Given the description of an element on the screen output the (x, y) to click on. 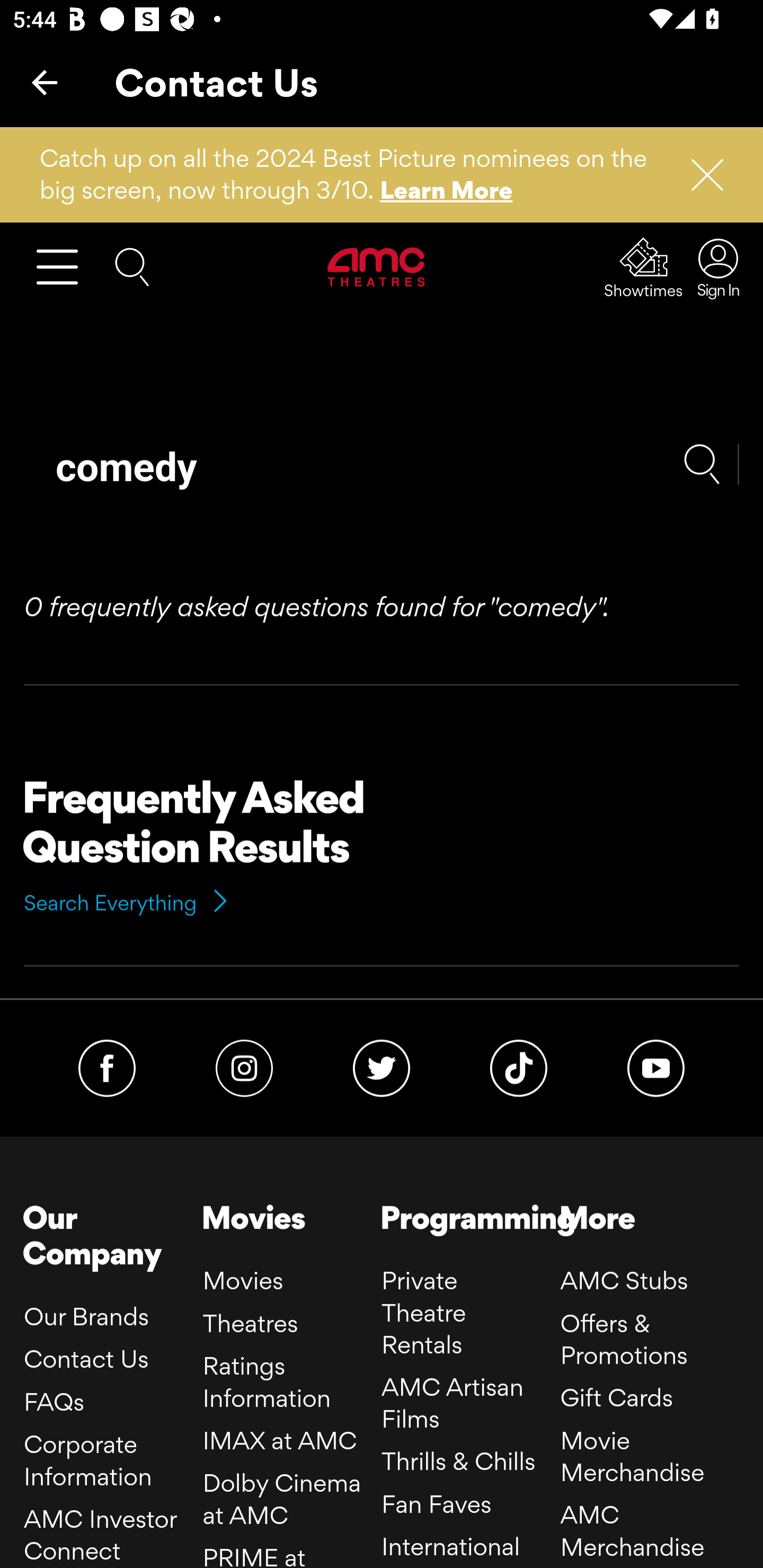
Back (44, 82)
Dismiss Notification (699, 174)
Learn More (446, 189)
Open Menu (64, 266)
Showtimes Showtimes Showtimes (643, 267)
Sign In (713, 267)
Search the AMC website (131, 265)
Visit Home Page AMC Theatres Logo (377, 266)
comedy (352, 467)
Submit Search Button (710, 463)
Search Everything (127, 903)
AMC Facebook (106, 1067)
AMC Instagram (243, 1067)
AMC Twitter (380, 1067)
AMC Tiktok (518, 1067)
AMC Youtube (655, 1067)
Movies (243, 1280)
Private Theatre Rentals (423, 1313)
AMC Stubs (623, 1280)
Our Brands (86, 1315)
Theatres (250, 1322)
Offers & Promotions (623, 1339)
Contact Us (86, 1358)
Ratings Information (266, 1381)
AMC Artisan Films (452, 1403)
Gift Cards (616, 1397)
FAQs (54, 1401)
IMAX at AMC (279, 1439)
Movie Merchandise (632, 1455)
Corporate Information (87, 1460)
Thrills & Chills (458, 1461)
Dolby Cinema at AMC (282, 1498)
Fan Faves (436, 1503)
AMC Merchandise (632, 1530)
AMC Investor Connect (100, 1534)
International Films (451, 1549)
PRIME at AMC (254, 1554)
